Given the description of an element on the screen output the (x, y) to click on. 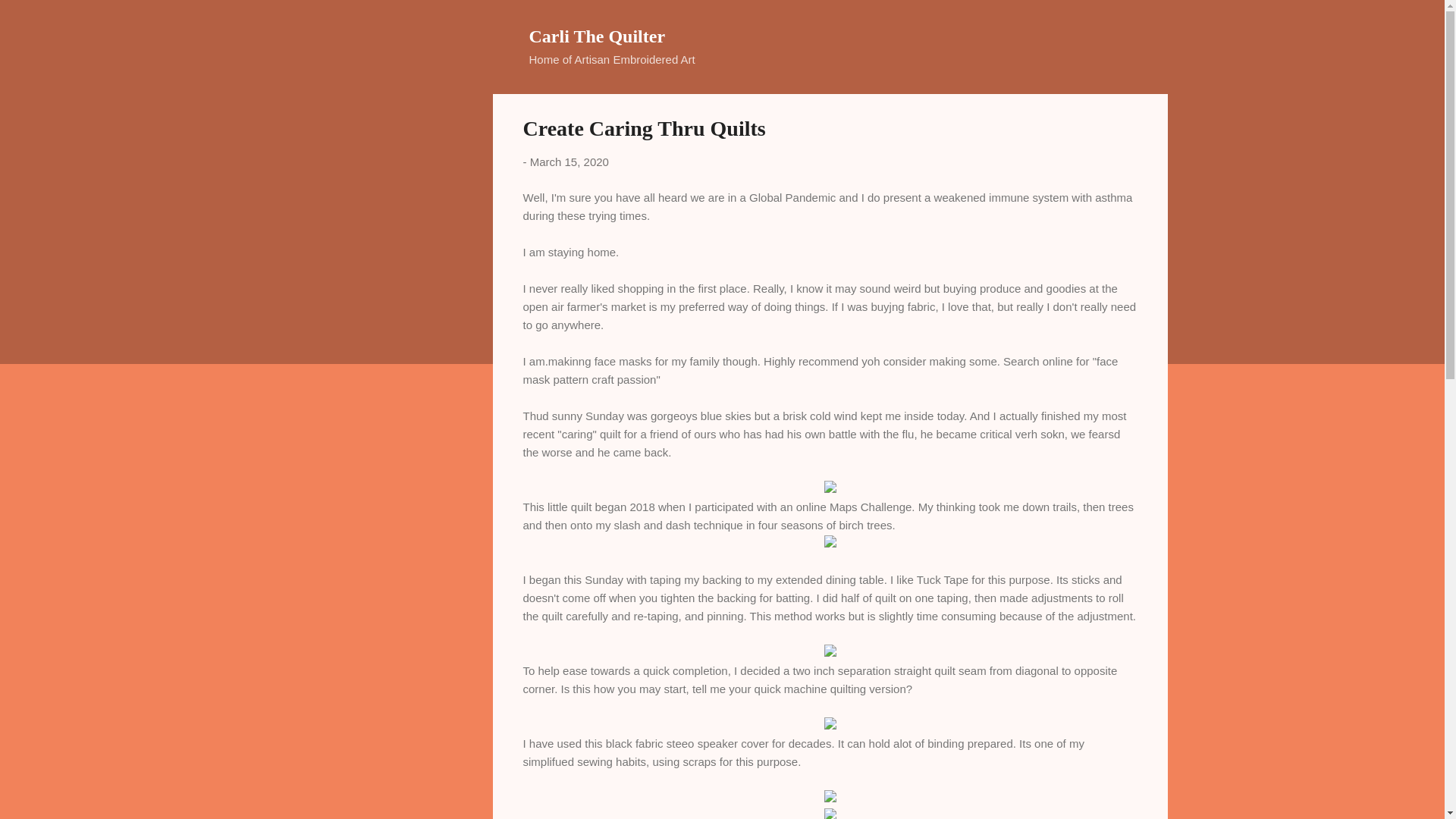
permanent link (568, 161)
March 15, 2020 (568, 161)
Search (29, 18)
Carli The Quilter (597, 35)
